Given the description of an element on the screen output the (x, y) to click on. 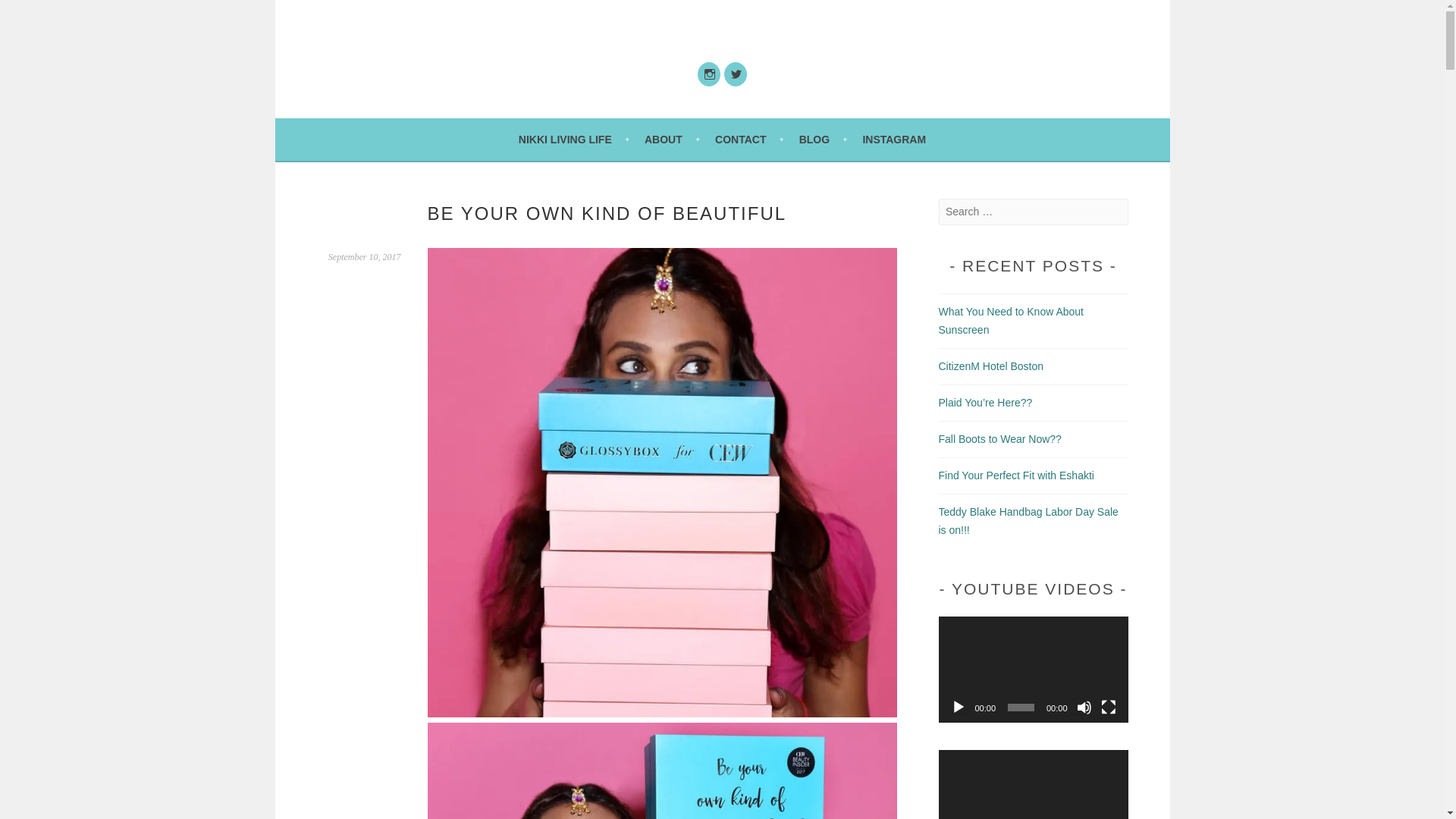
NIKKI LIVING LIFE (573, 139)
Permalink to Be Your Own Kind of Beautiful (365, 256)
Fullscreen (1108, 707)
CONTACT (748, 139)
INSTAGRAM (893, 139)
Mute (1084, 707)
BLOG (823, 139)
Twitter (734, 74)
Play (958, 707)
ABOUT (672, 139)
Instagram (708, 74)
September 10, 2017 (365, 256)
